Given the description of an element on the screen output the (x, y) to click on. 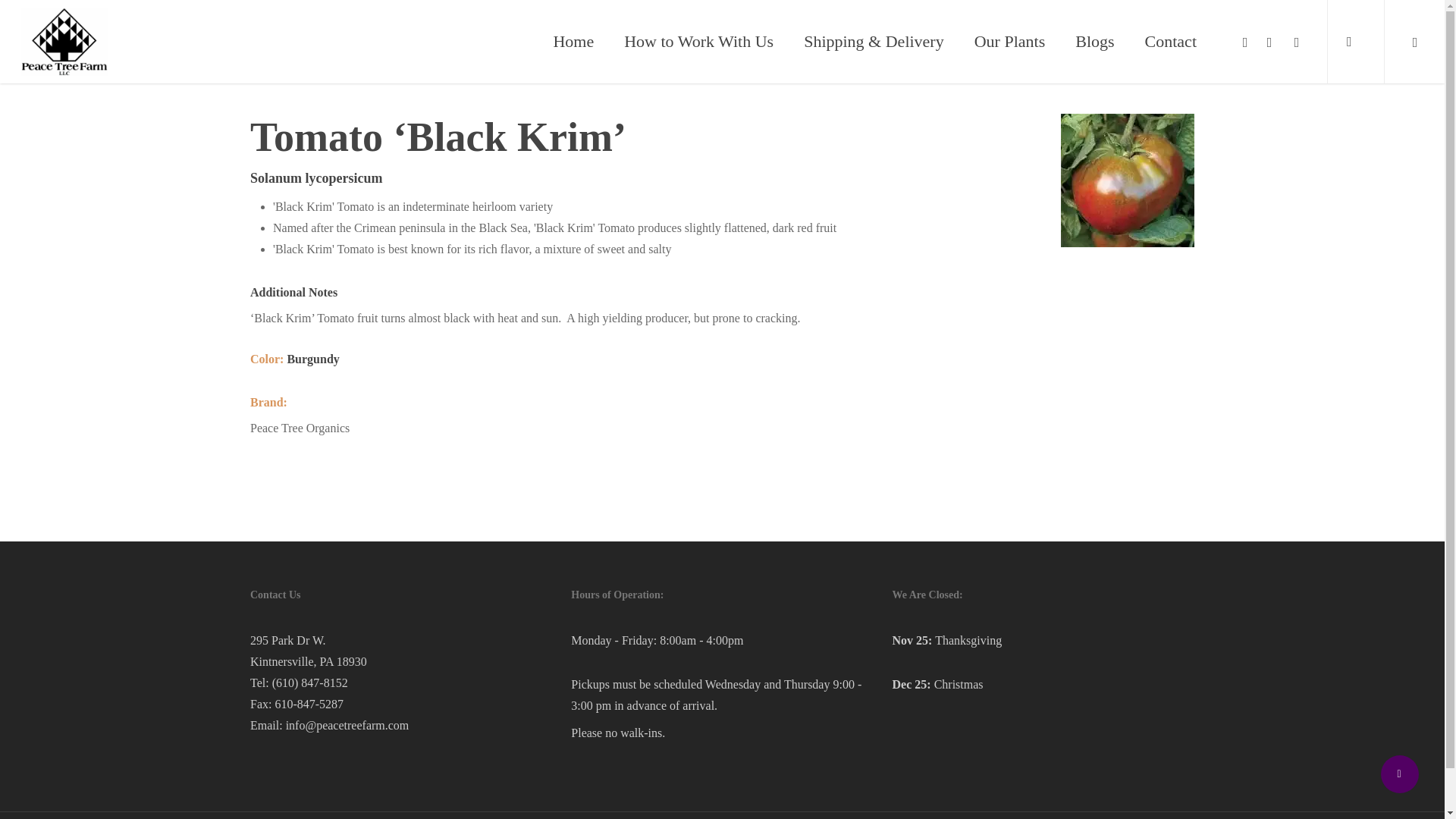
Contact (1170, 41)
Our Plants (1009, 41)
Blogs (1094, 41)
instagram (1268, 41)
Home (573, 41)
email (1296, 41)
How to Work With Us (698, 41)
facebook (1244, 41)
